Given the description of an element on the screen output the (x, y) to click on. 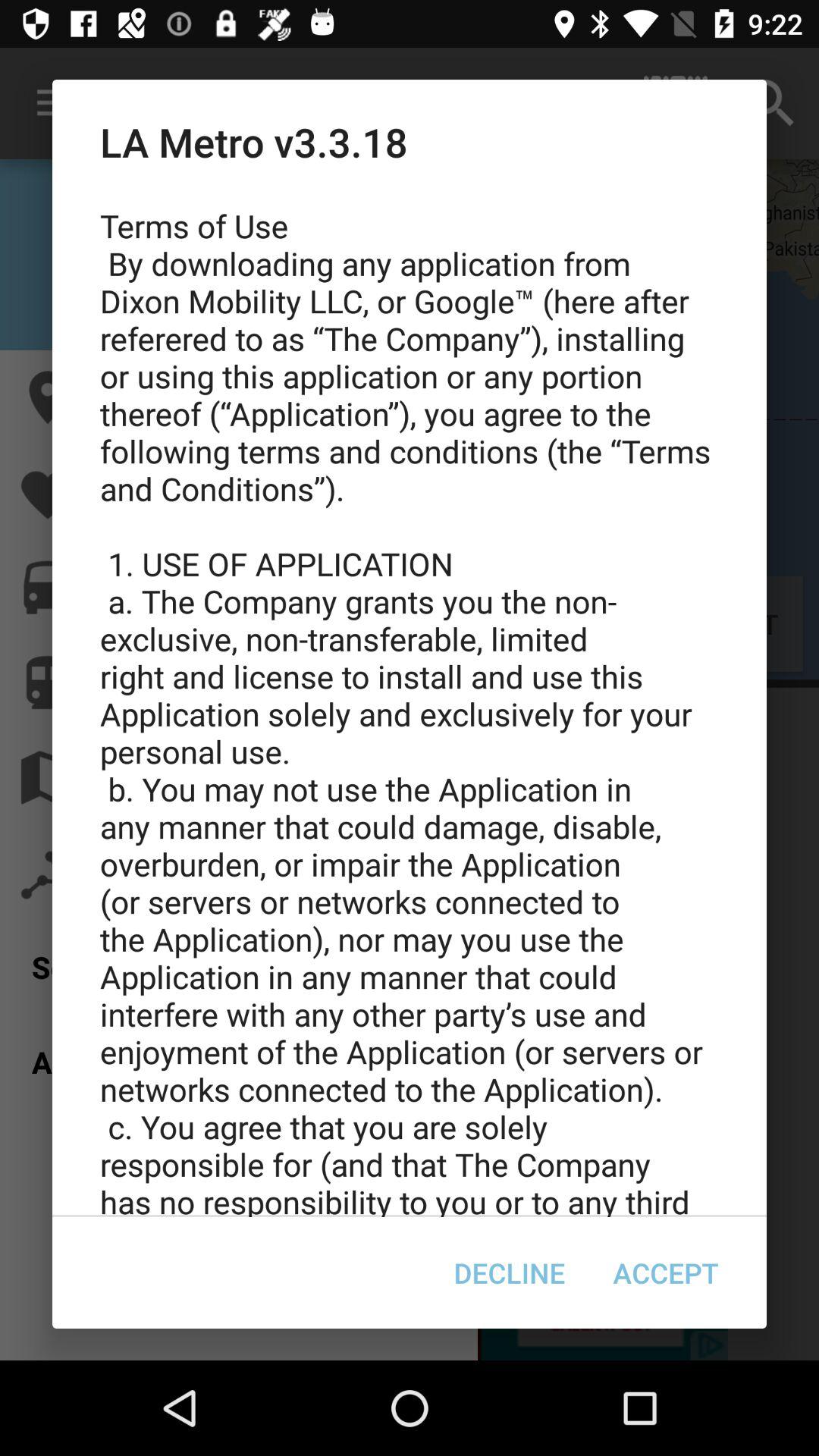
select icon at the bottom right corner (665, 1272)
